Given the description of an element on the screen output the (x, y) to click on. 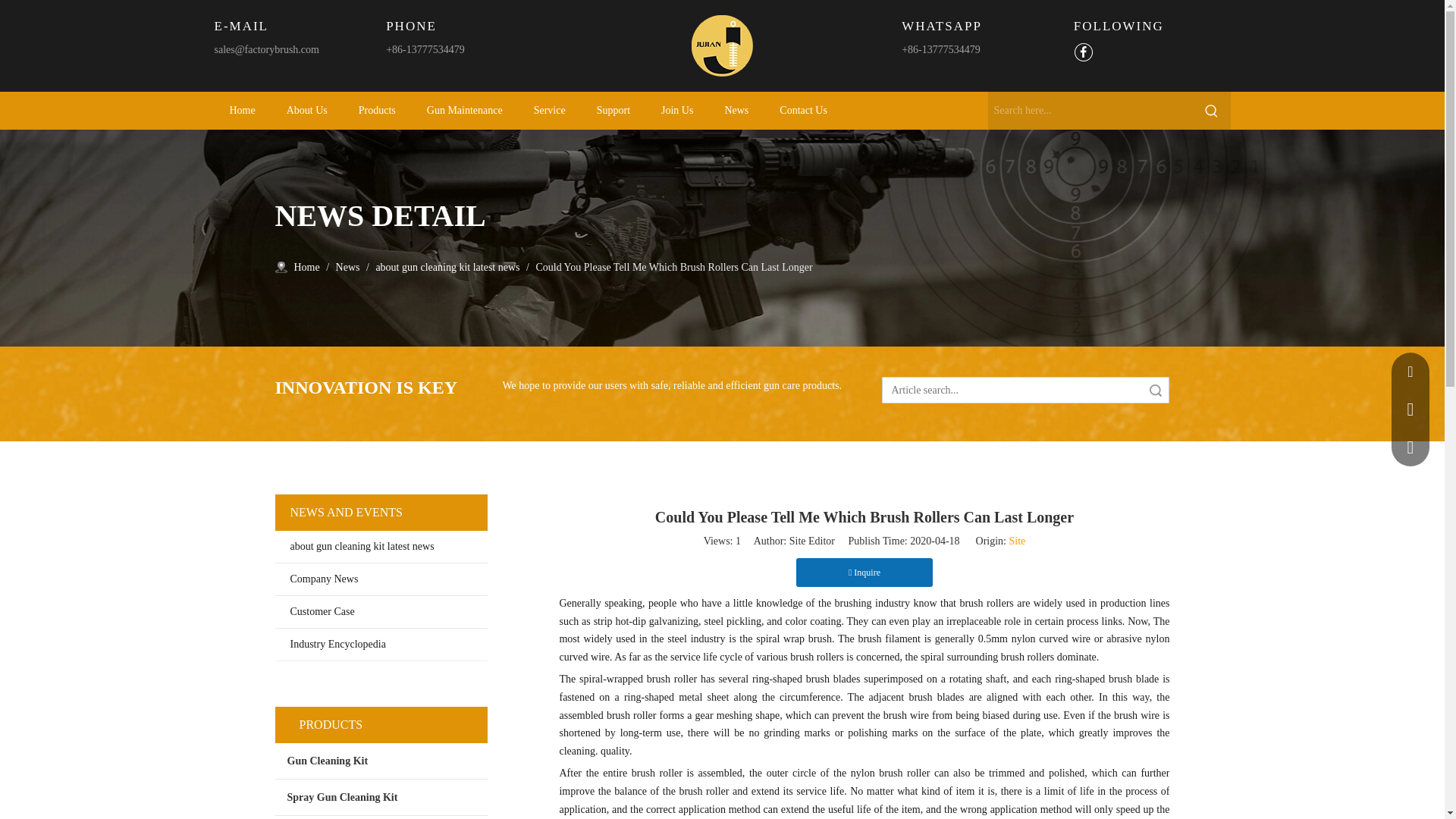
Home (241, 110)
Service (549, 110)
Industry Encyclopedia (380, 644)
Products (376, 110)
about gun cleaning kit latest news (380, 546)
Company News (380, 579)
About Us (306, 110)
Gun Maintenance (465, 110)
Customer Case (380, 612)
Facebook (1083, 52)
